Given the description of an element on the screen output the (x, y) to click on. 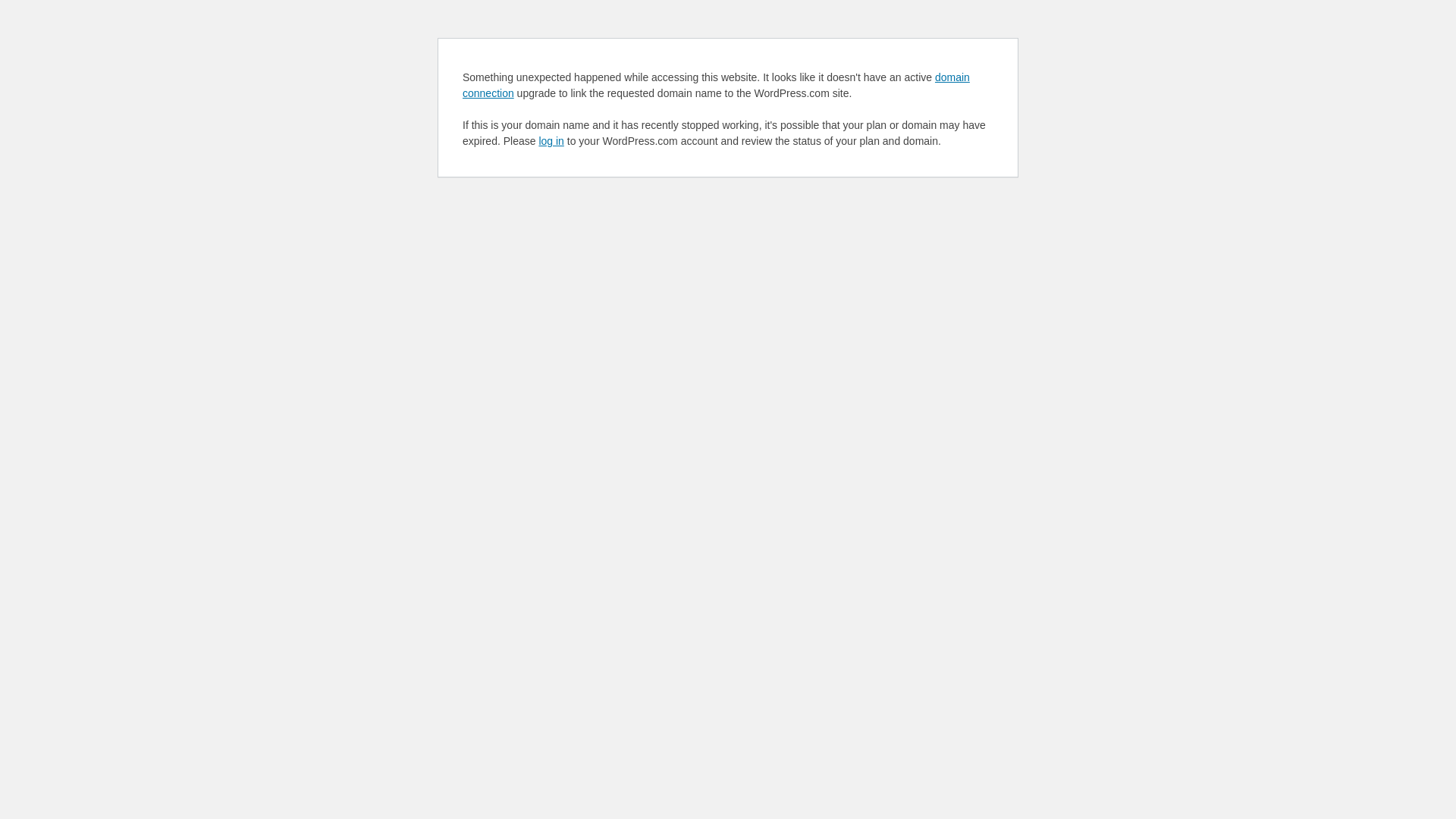
domain connection Element type: text (715, 85)
log in Element type: text (550, 140)
